Given the description of an element on the screen output the (x, y) to click on. 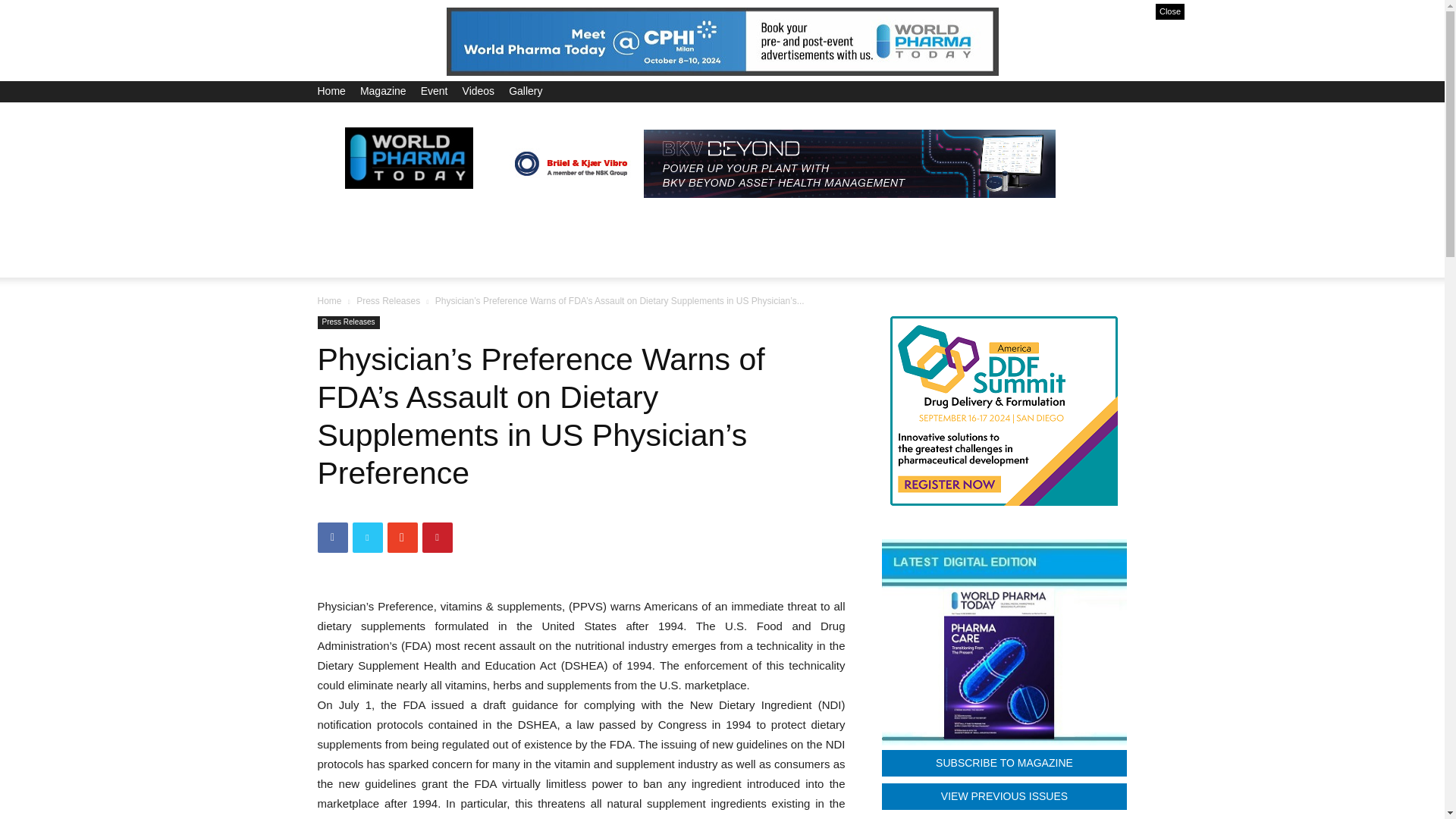
World Pharma Today (408, 157)
Videos (479, 91)
NEWS (399, 222)
Gallery (524, 91)
Magazine (382, 91)
HOME (343, 222)
Home (331, 91)
Event (434, 91)
